Given the description of an element on the screen output the (x, y) to click on. 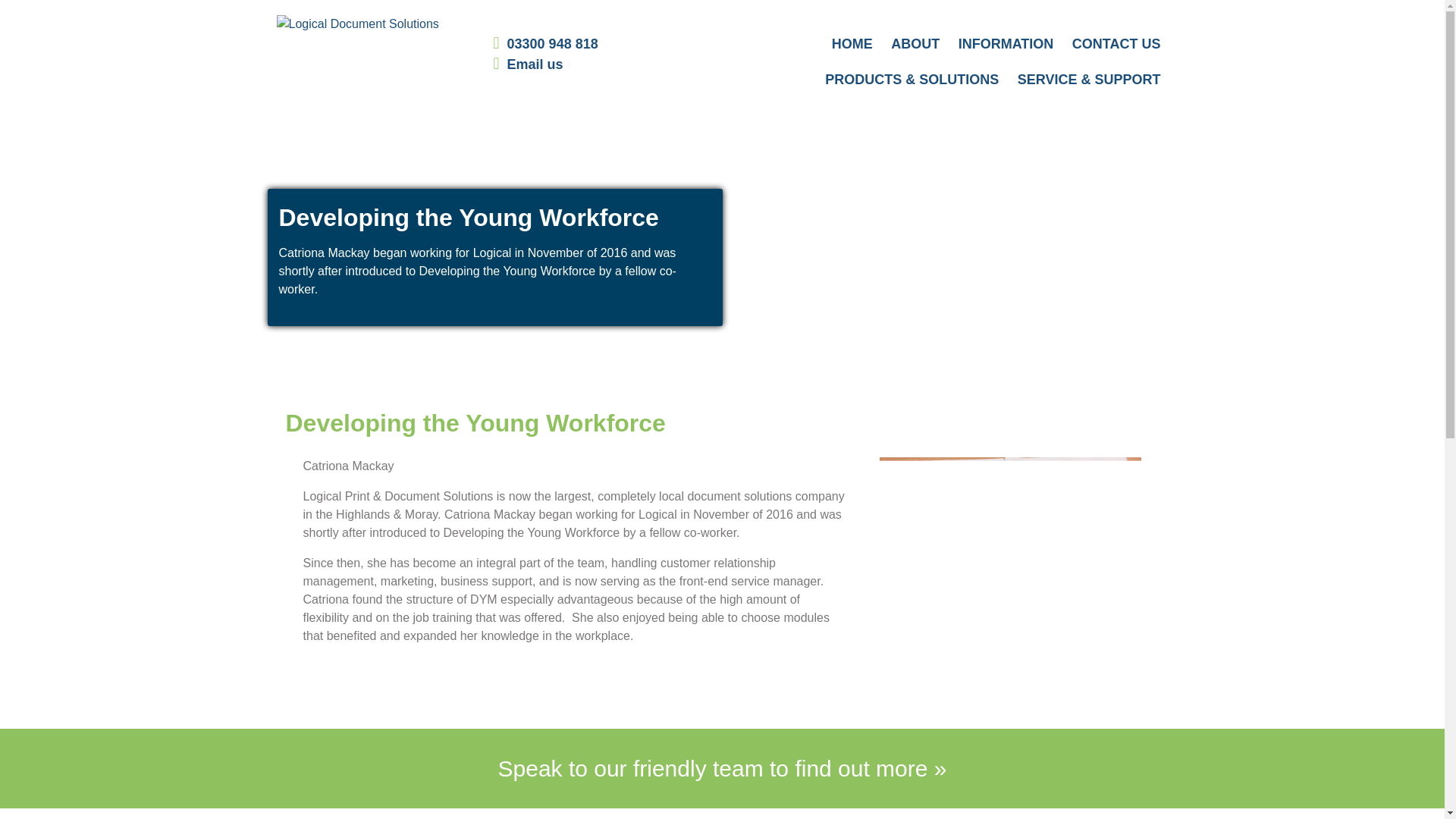
ABOUT (915, 44)
Email us (534, 64)
CONTACT US (1116, 44)
INFORMATION (1005, 44)
Logical Document Solutions (357, 24)
03300 948 818 (552, 43)
HOME (852, 44)
